Given the description of an element on the screen output the (x, y) to click on. 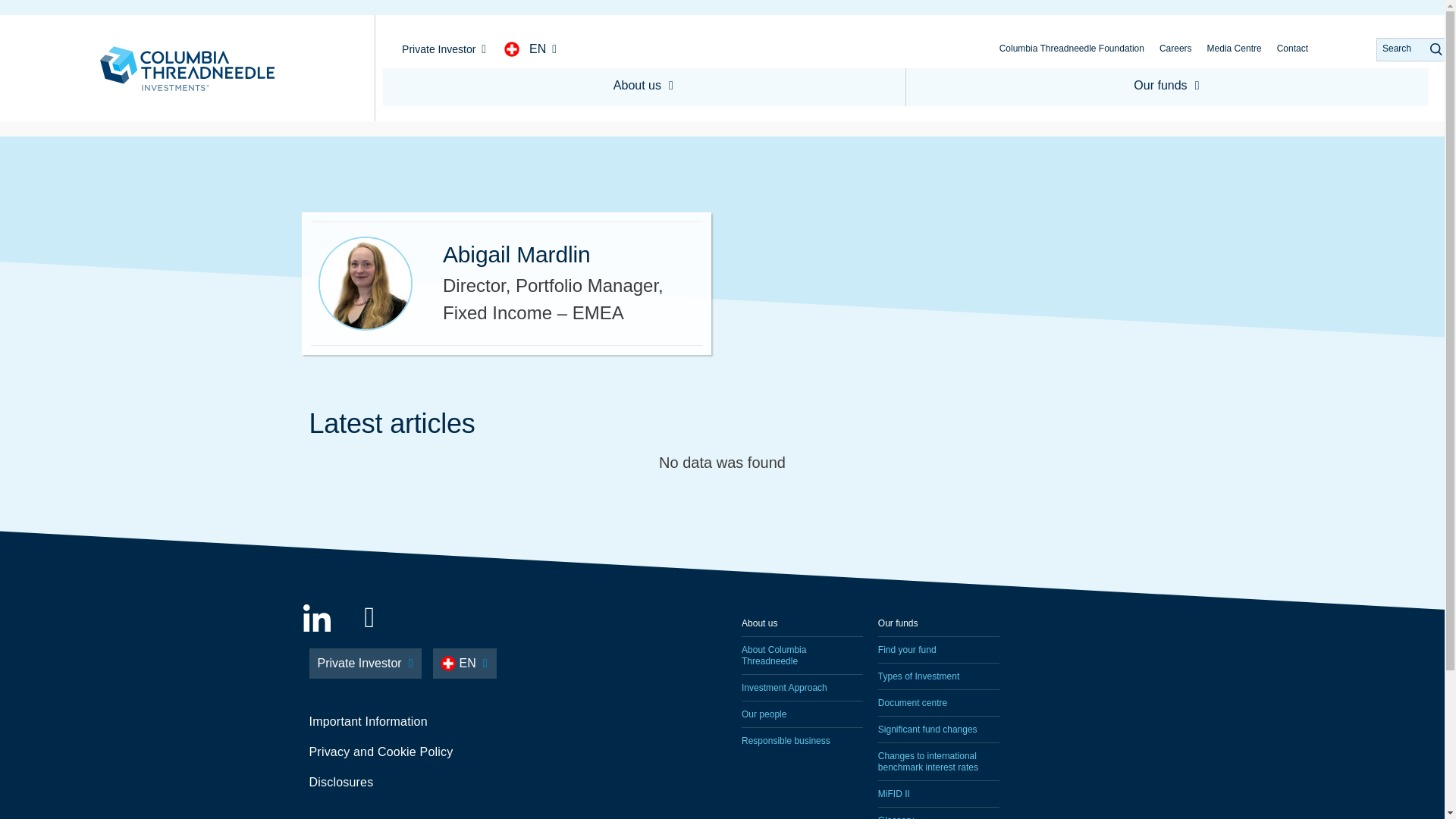
Contact (1292, 48)
abigail-mardlin-img (365, 283)
Private Investor (365, 663)
Search (1411, 49)
Our funds (1166, 86)
About us (802, 623)
About us (643, 86)
Media Centre (1234, 48)
EN (542, 48)
EN (464, 663)
Columbia Threadneedle Foundation (1071, 48)
Careers (1175, 48)
Private Investor (443, 48)
